Given the description of an element on the screen output the (x, y) to click on. 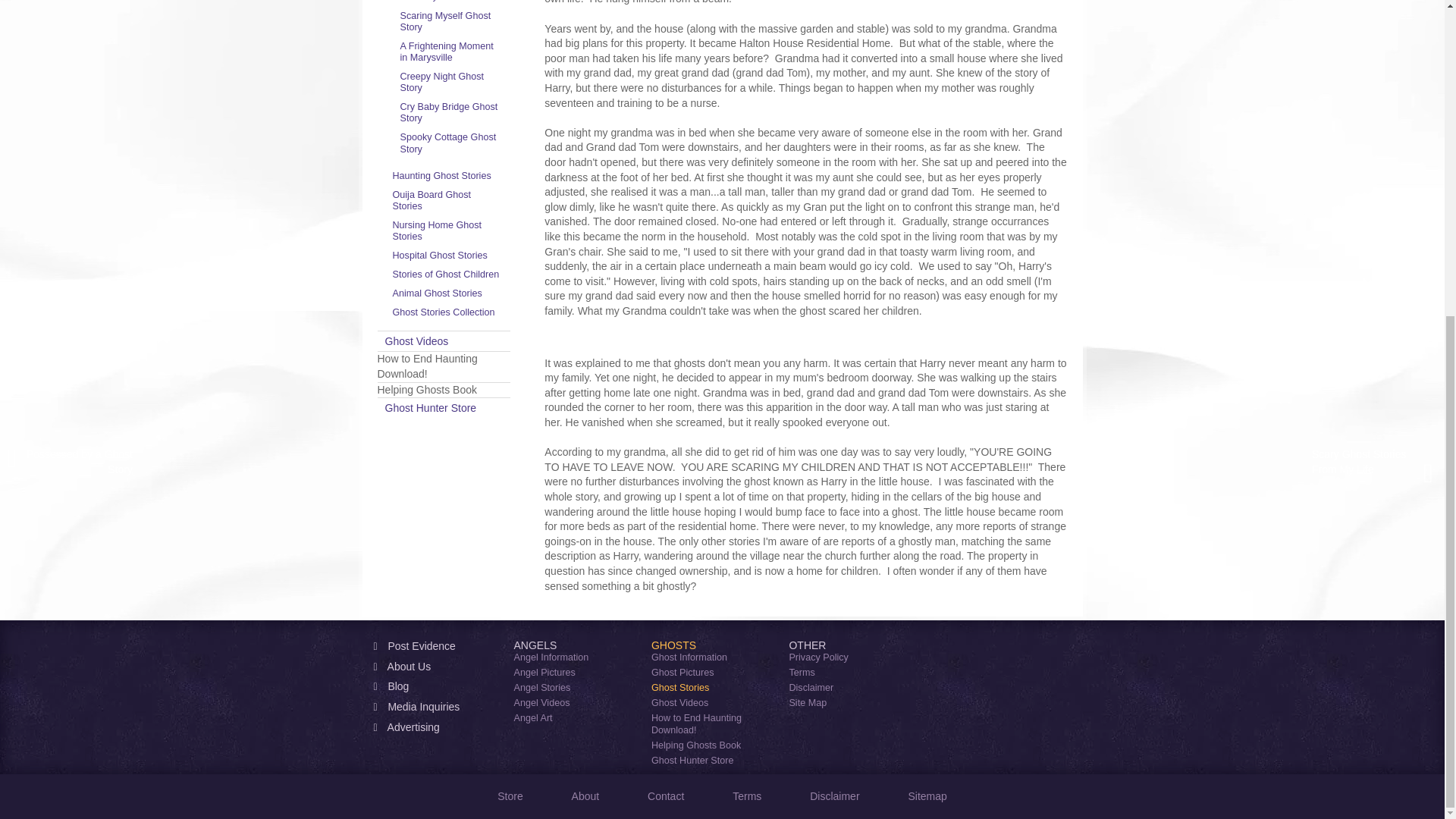
A Frightening Moment in Marysville (452, 51)
Nursing Home Ghost Stories (448, 231)
Haunting Ghost Stories (448, 176)
Creepy Night Ghost Story (452, 82)
Cry Baby Bridge Ghost Story (452, 112)
Scary Ghost Stories From My Life (452, 2)
Scaring Myself Ghost Story (452, 21)
Spooky Cottage Ghost Story (452, 142)
Ouija Board Ghost Stories (448, 200)
